Given the description of an element on the screen output the (x, y) to click on. 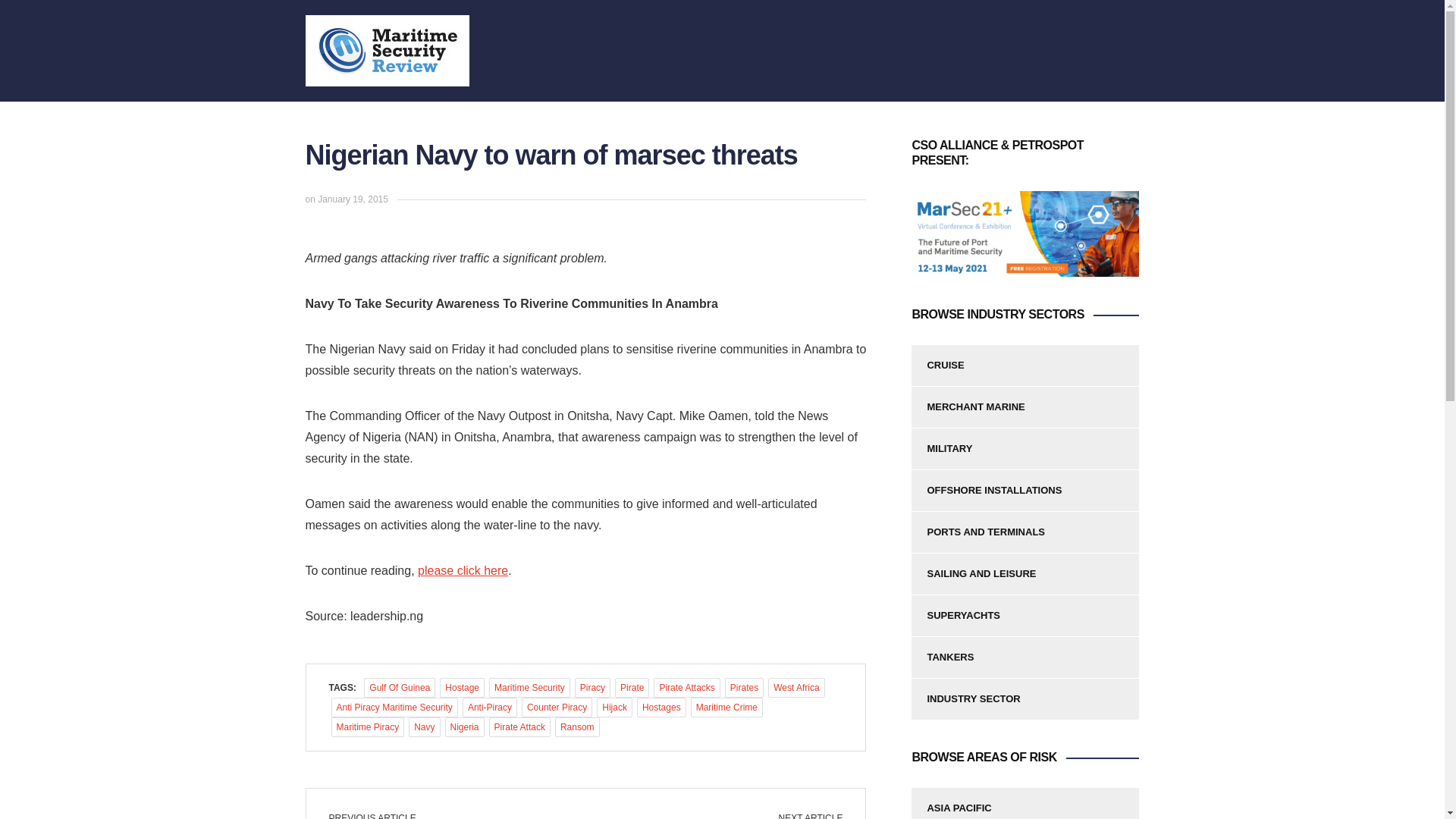
Gulf Of Guinea (399, 687)
Nigerian Navy to warn of marsec threats (462, 570)
Maritime Crime (726, 707)
Pirates (743, 687)
Anti-Piracy (489, 707)
Pirate (631, 687)
Pirate Attacks (686, 687)
Anti Piracy Maritime Security (393, 707)
Counter Piracy (556, 707)
West Africa (796, 687)
